Given the description of an element on the screen output the (x, y) to click on. 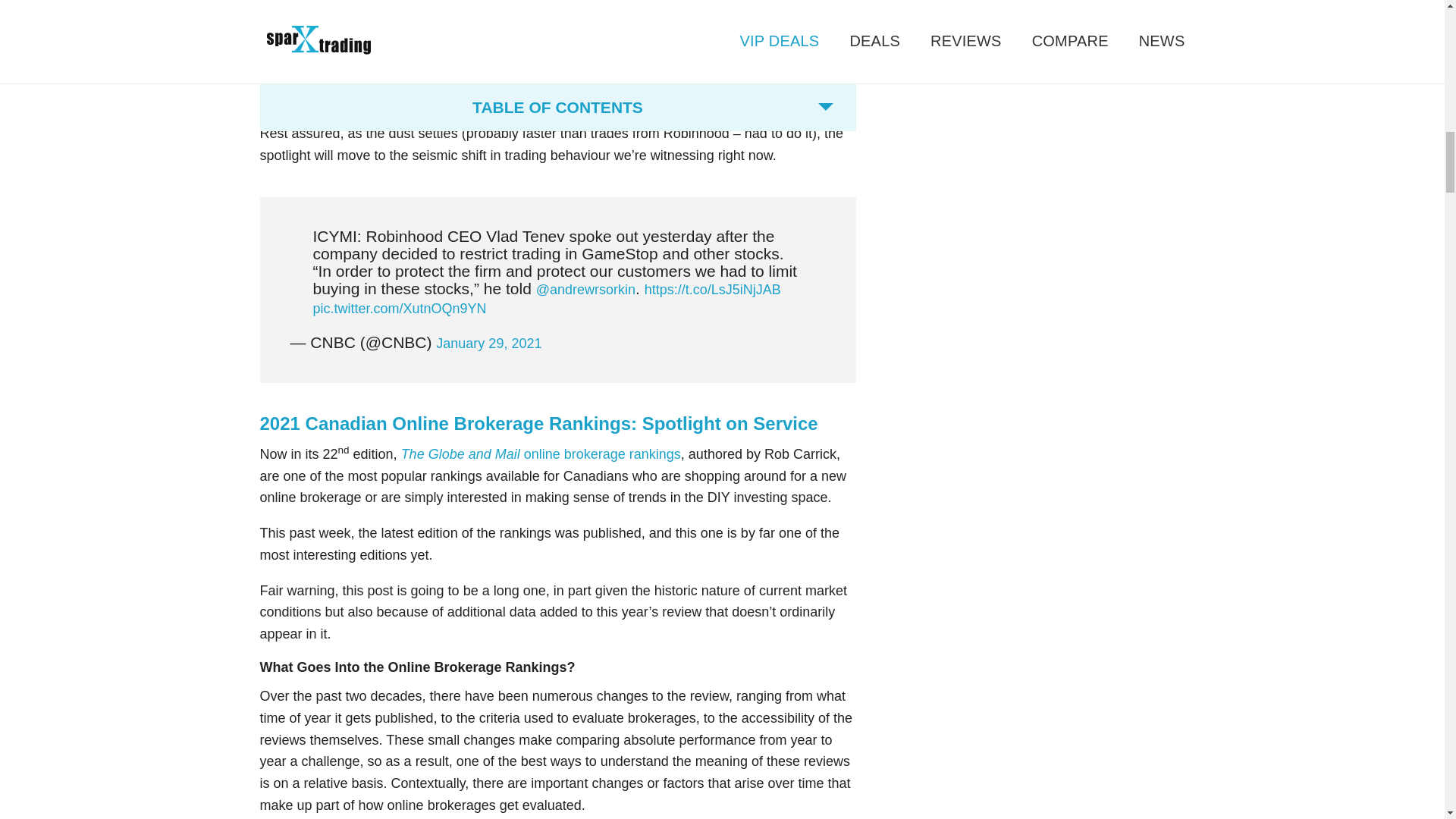
3rd party ad content (1056, 13)
